Given the description of an element on the screen output the (x, y) to click on. 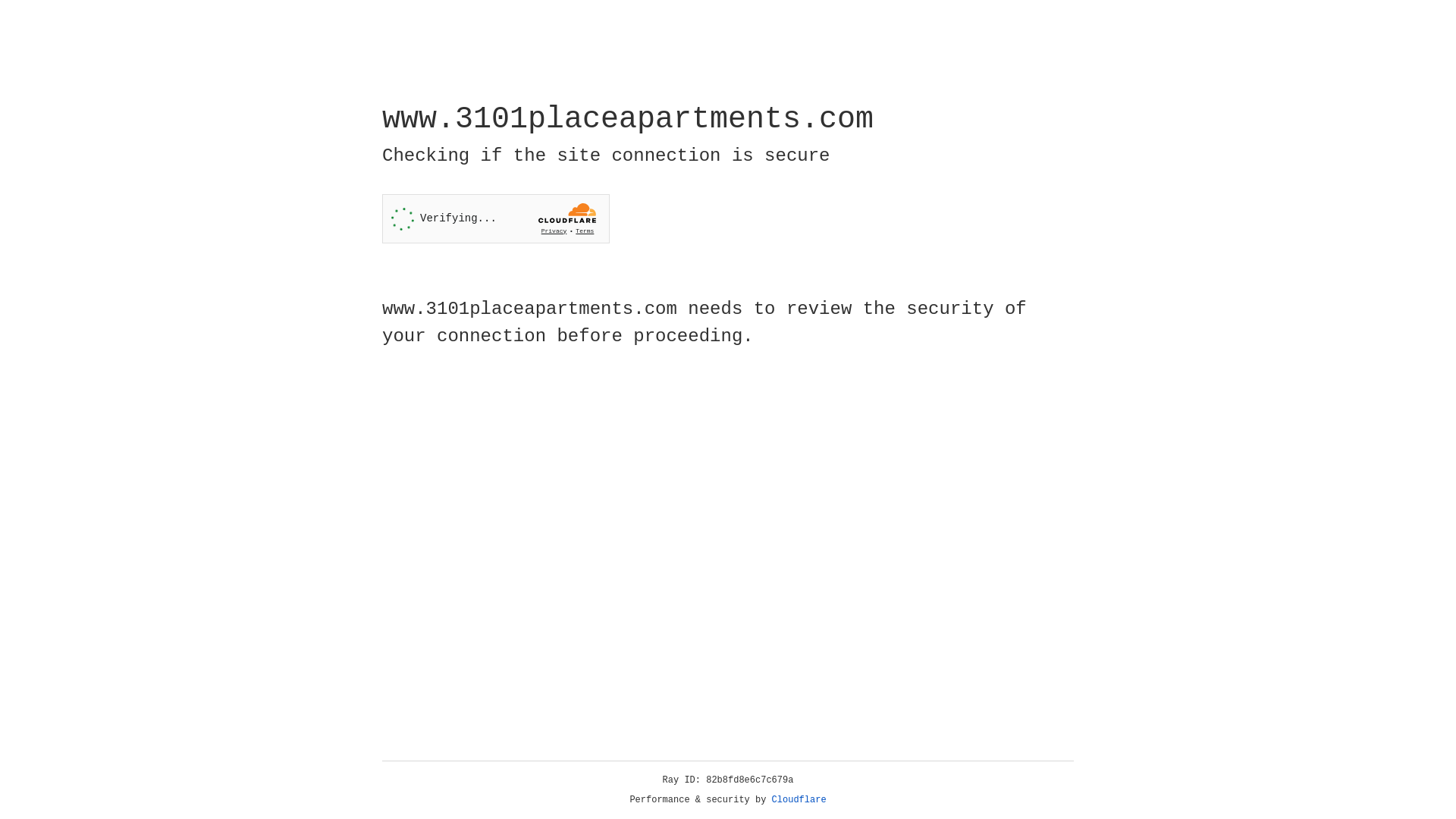
Cloudflare Element type: text (798, 799)
Widget containing a Cloudflare security challenge Element type: hover (495, 218)
